Given the description of an element on the screen output the (x, y) to click on. 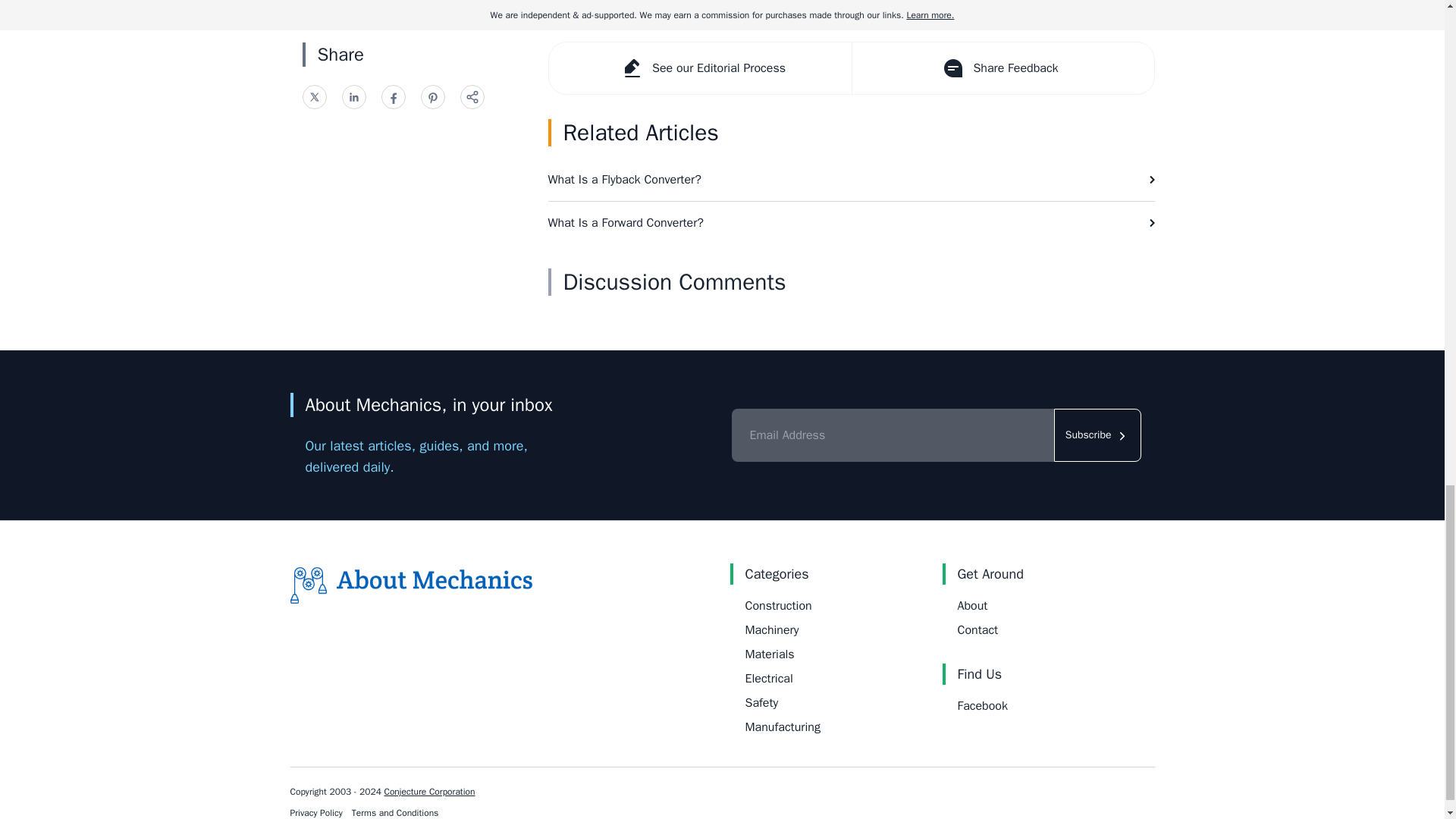
What Is a Flyback Converter? (850, 179)
Share Feedback (1001, 68)
See our Editorial Process (699, 68)
